Given the description of an element on the screen output the (x, y) to click on. 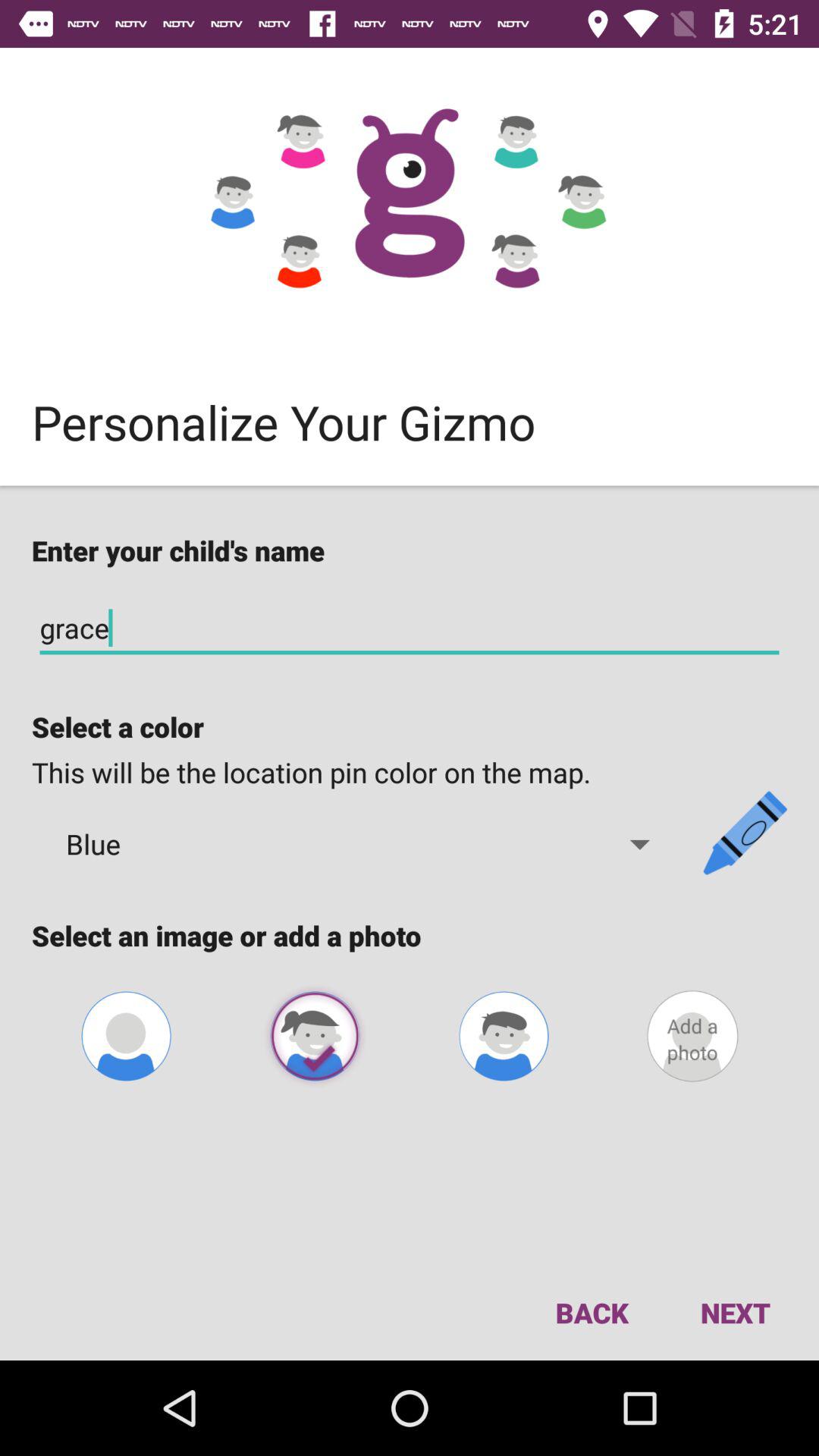
select the image (314, 1036)
